Given the description of an element on the screen output the (x, y) to click on. 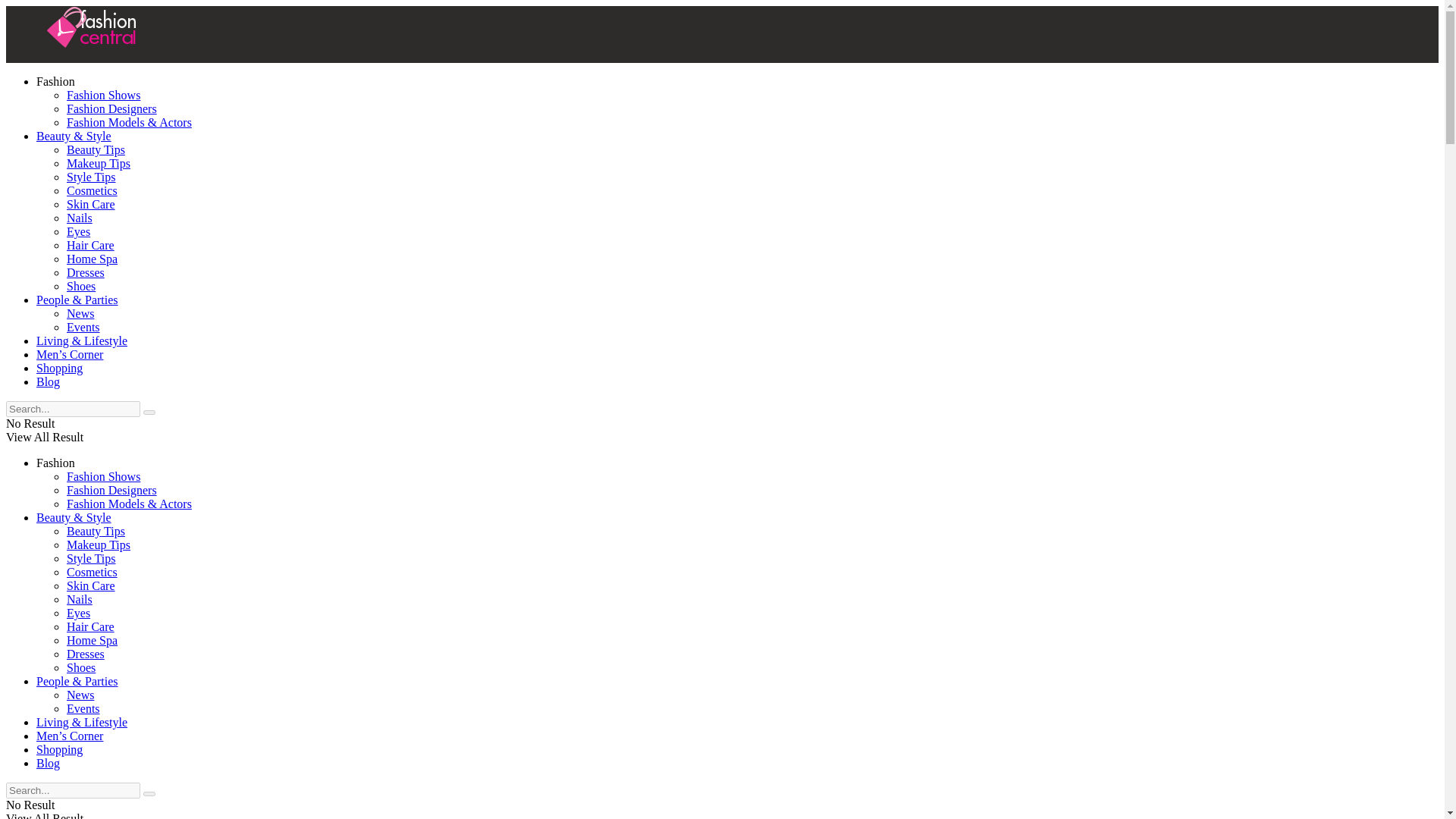
Fashion (55, 462)
Eyes (78, 231)
News (80, 313)
Shoes (81, 286)
Fashion Designers (111, 490)
Skin Care (90, 204)
Cosmetics (91, 190)
Beauty Tips (95, 530)
Hair Care (90, 245)
Fashion (55, 81)
